Given the description of an element on the screen output the (x, y) to click on. 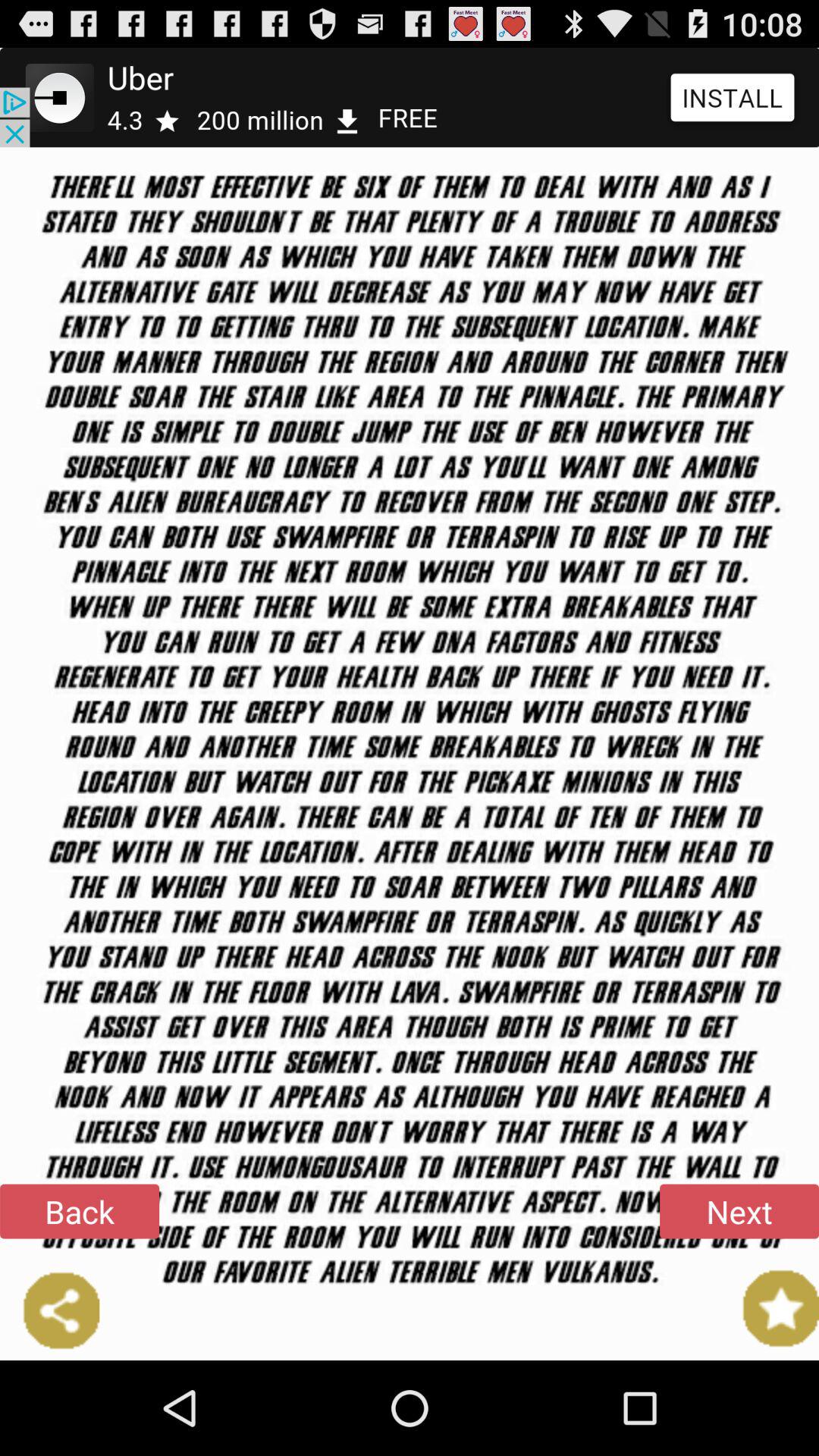
swipe to the back button (79, 1211)
